Given the description of an element on the screen output the (x, y) to click on. 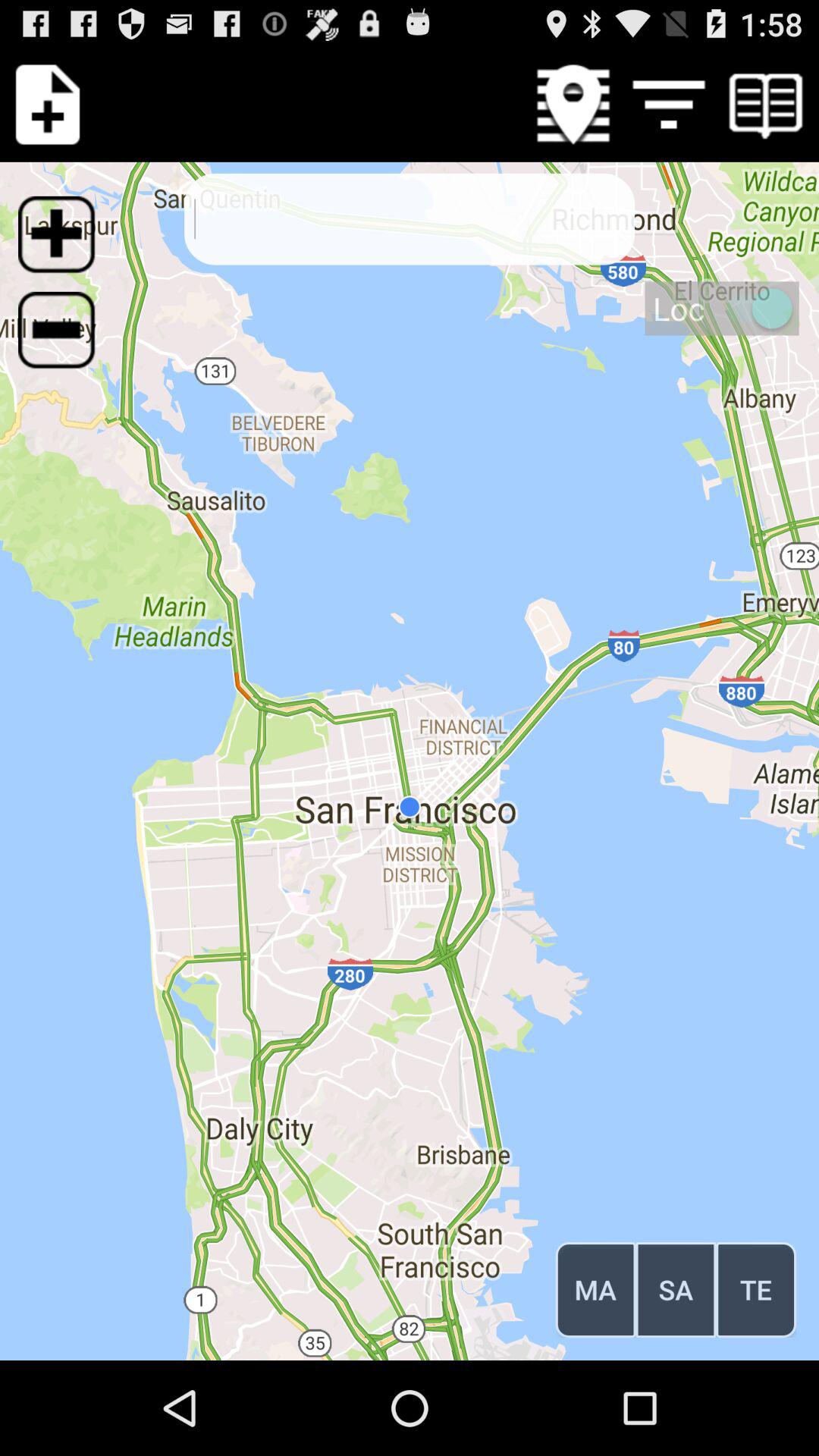
click loc (721, 308)
